Given the description of an element on the screen output the (x, y) to click on. 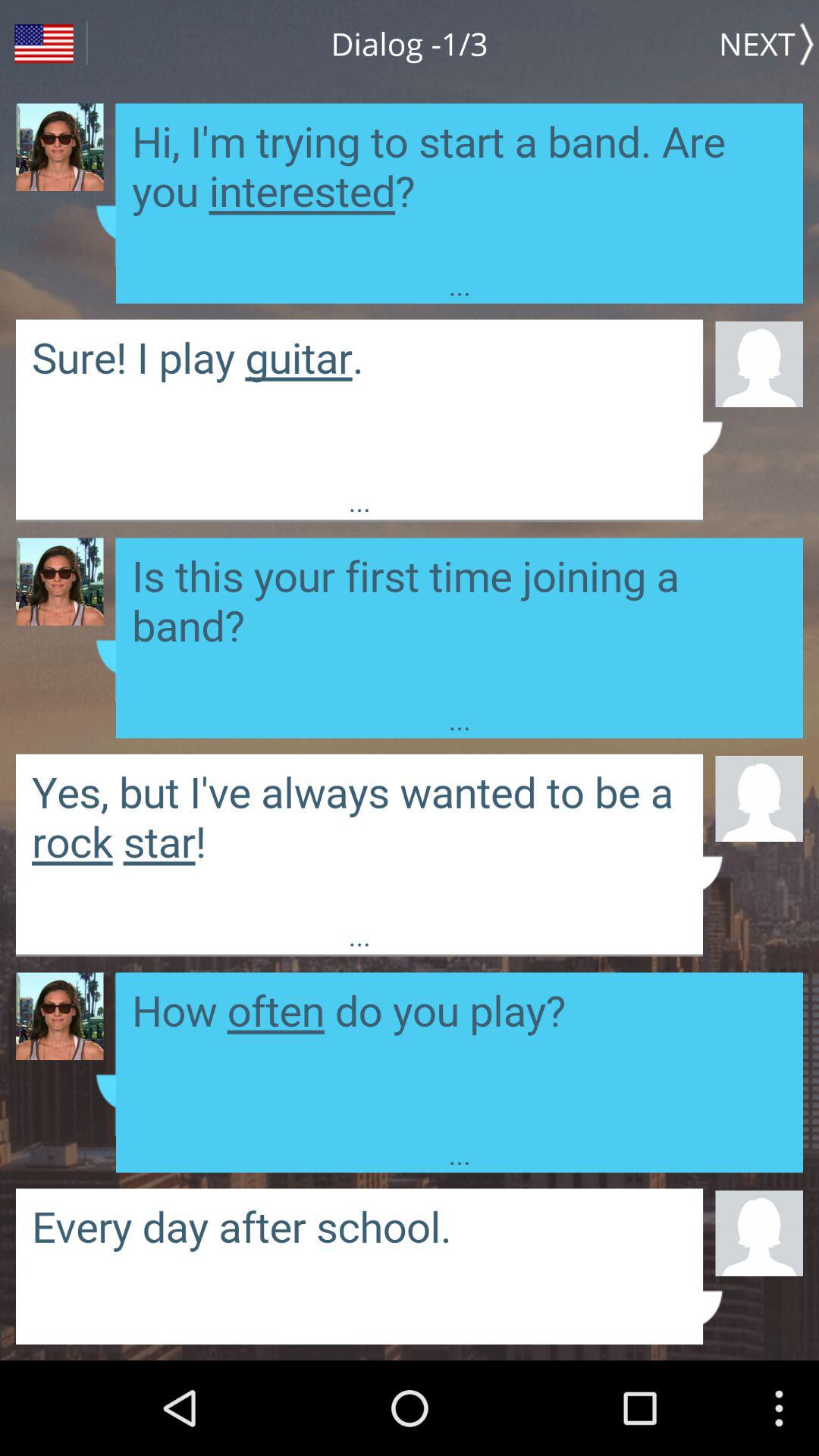
reply (358, 400)
